Given the description of an element on the screen output the (x, y) to click on. 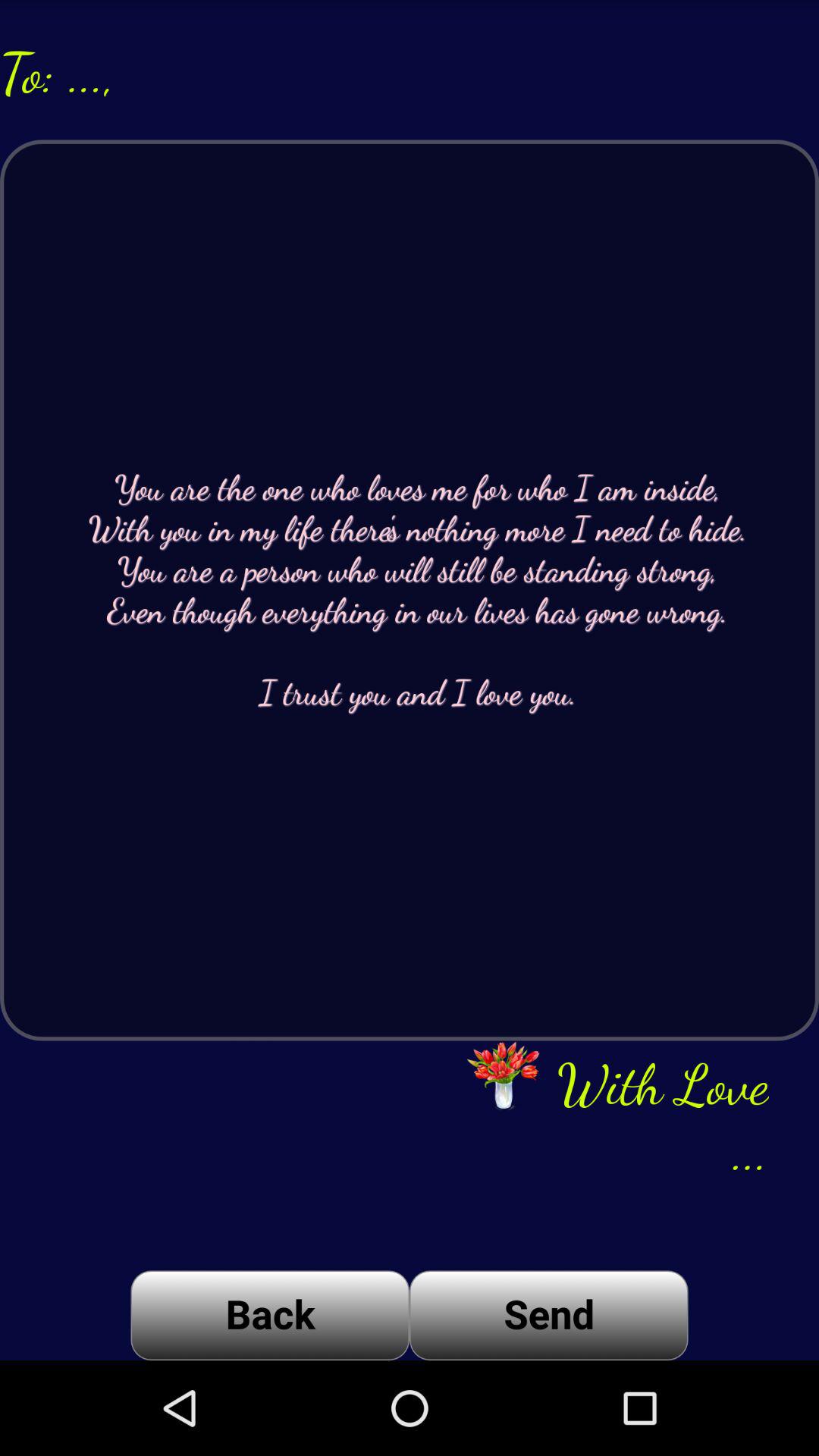
choose the item below the to: ...,  item (409, 589)
